Given the description of an element on the screen output the (x, y) to click on. 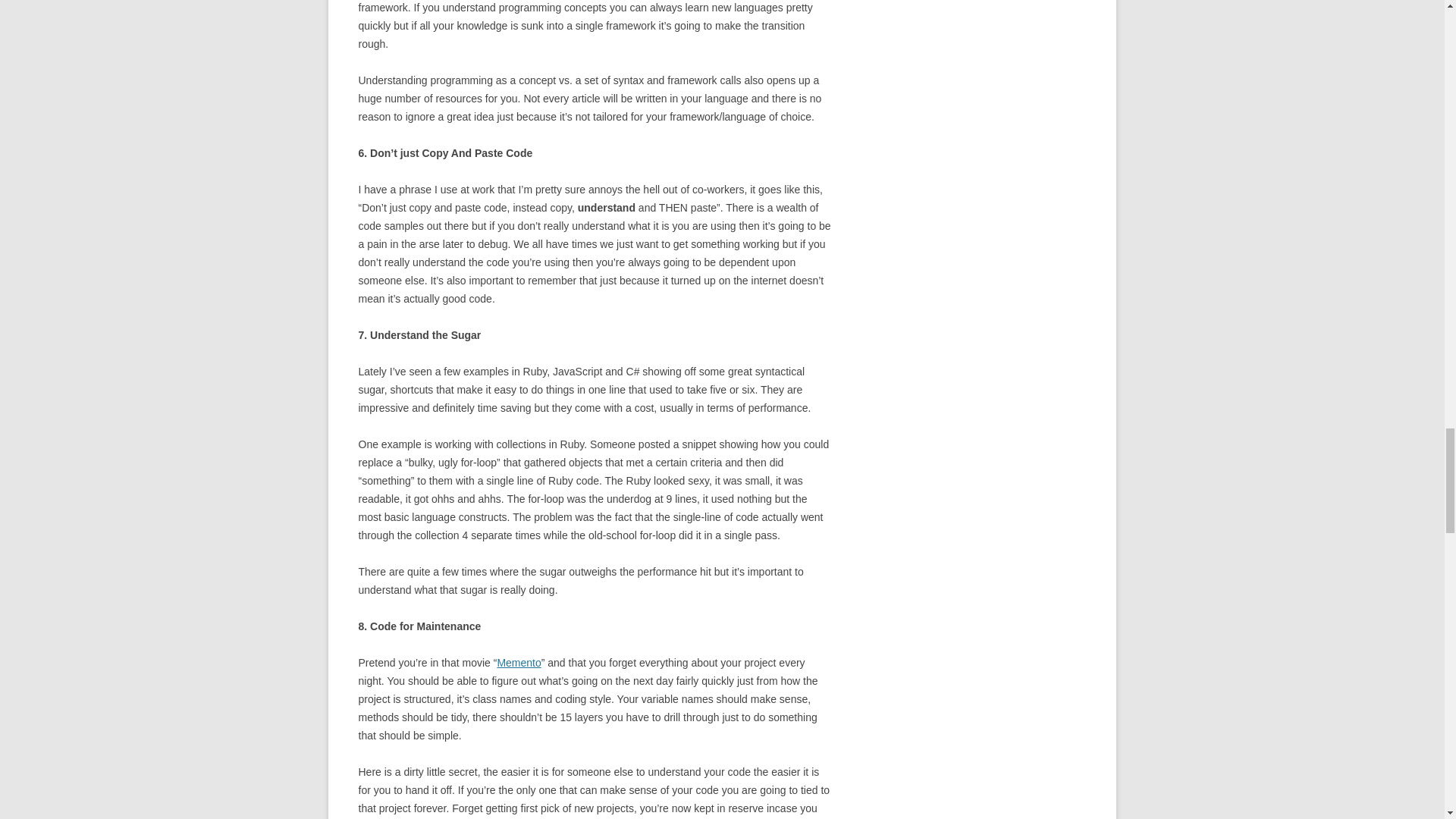
Memento (518, 662)
Memento (518, 662)
